Given the description of an element on the screen output the (x, y) to click on. 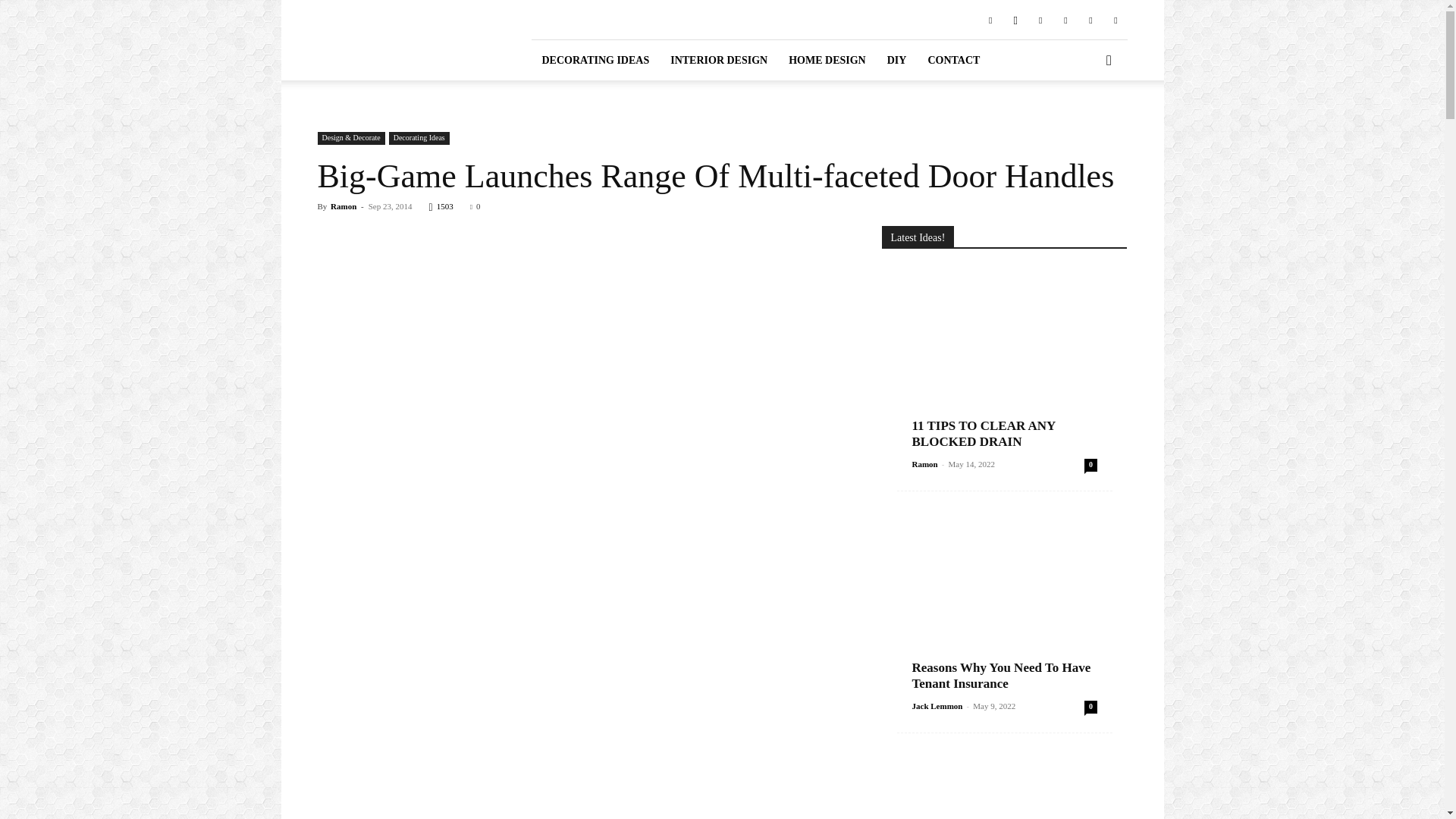
WordPress (1114, 19)
Facebook (989, 19)
INTERIOR DESIGN (718, 60)
DECORATING IDEAS (595, 60)
Search (1085, 122)
DIY (896, 60)
HOME DESIGN (826, 60)
Pinterest (1040, 19)
Ramon (343, 205)
Instagram (1015, 19)
